Given the description of an element on the screen output the (x, y) to click on. 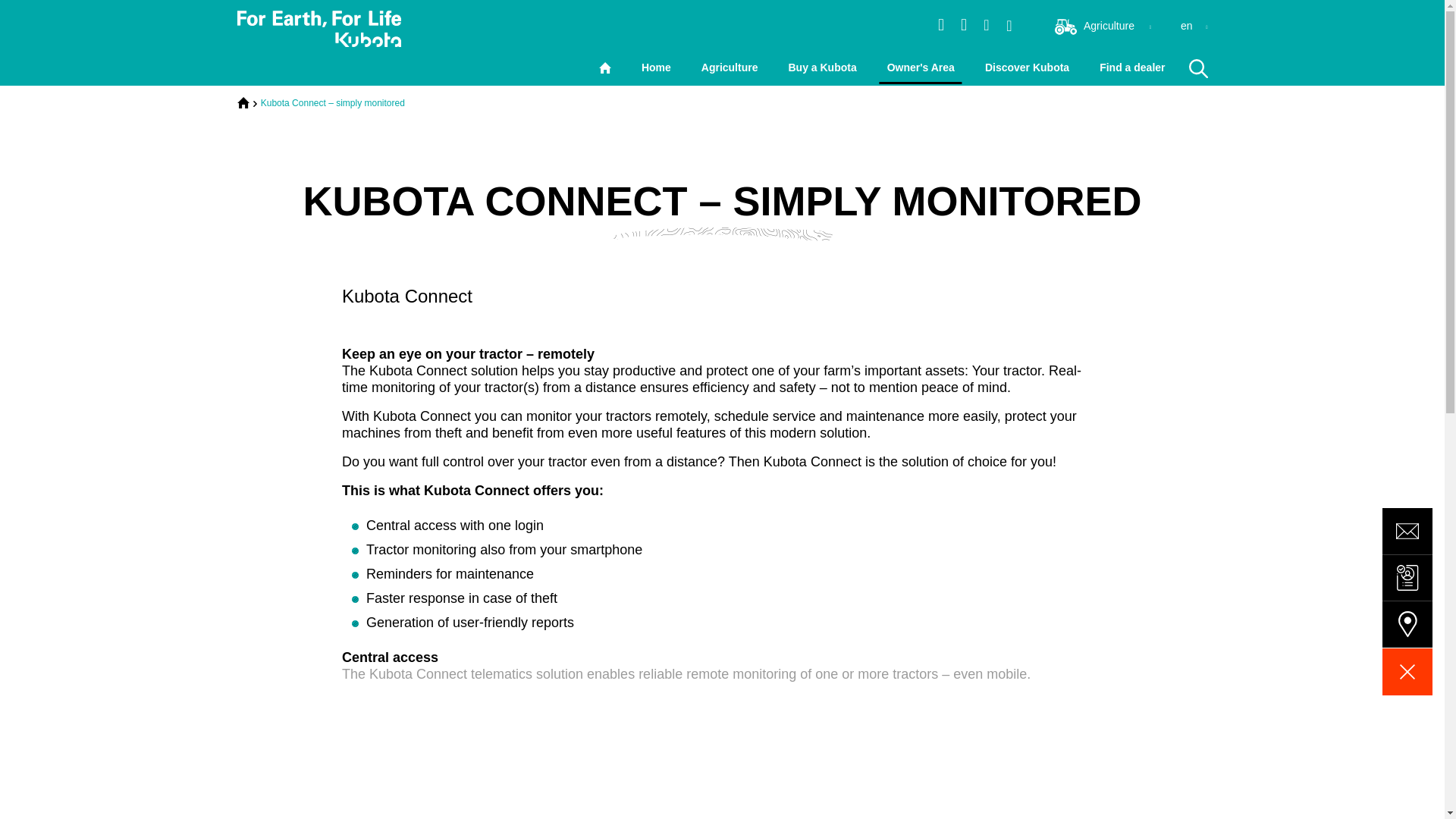
Home (241, 102)
YouTube (1008, 24)
LinkedIn (963, 24)
Owner's Area (920, 67)
Home (656, 67)
Agriculture (729, 67)
Discover Kubota (1026, 67)
Open search (1197, 68)
Buy a Kubota (821, 67)
Instagram (940, 24)
Find a dealer (1131, 67)
Facebook (985, 24)
Kubota Europe SAS. (317, 28)
